Given the description of an element on the screen output the (x, y) to click on. 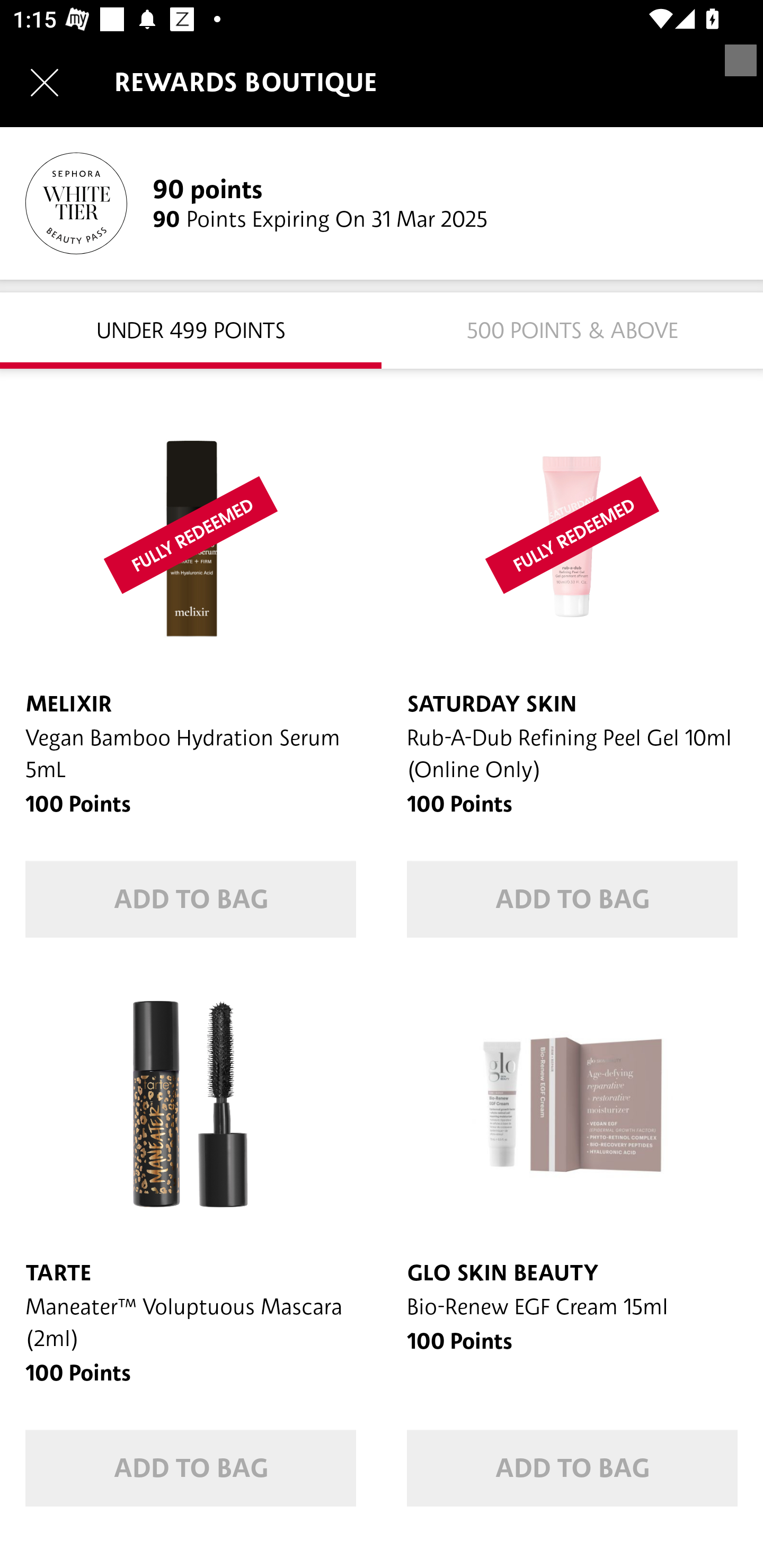
Navigate up (44, 82)
500 Points & Above 500 POINTS & ABOVE (572, 329)
ADD TO BAG (190, 898)
ADD TO BAG (571, 898)
ADD TO BAG (190, 1468)
ADD TO BAG (571, 1468)
